Given the description of an element on the screen output the (x, y) to click on. 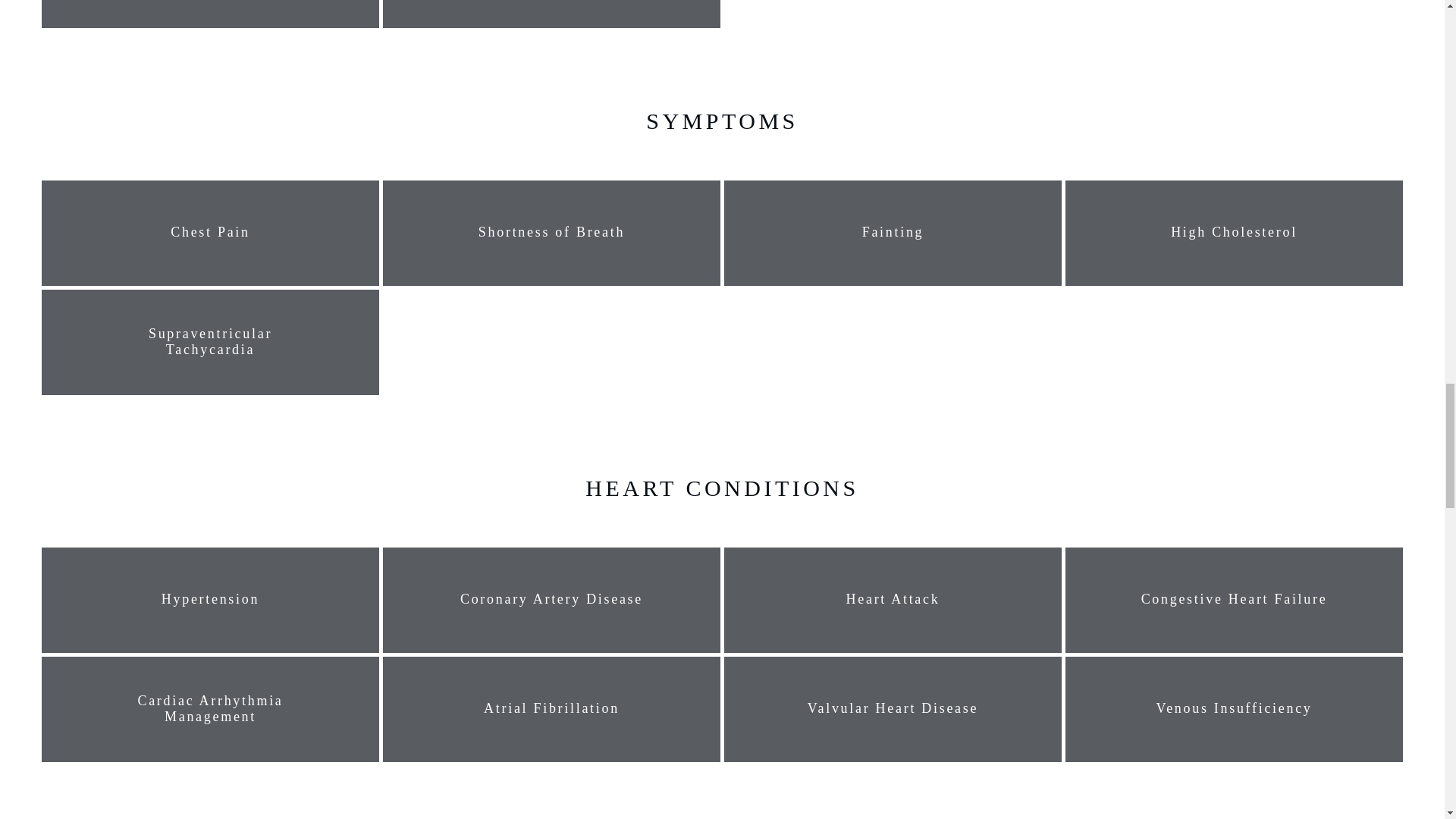
Valvular Heart Disease (892, 709)
Hypertension (210, 599)
Fainting (892, 232)
Shortness of Breath (551, 232)
Chest Pain (210, 232)
Atrial Fibrillation (551, 709)
Heart Attack (892, 599)
Cardiac Arrhythmia Management (210, 708)
Venous Insufficiency (1234, 709)
Supraventricular Tachycardia (210, 341)
High Cholesterol (1234, 232)
Congestive Heart Failure (1234, 599)
Coronary Artery Disease (551, 599)
